Given the description of an element on the screen output the (x, y) to click on. 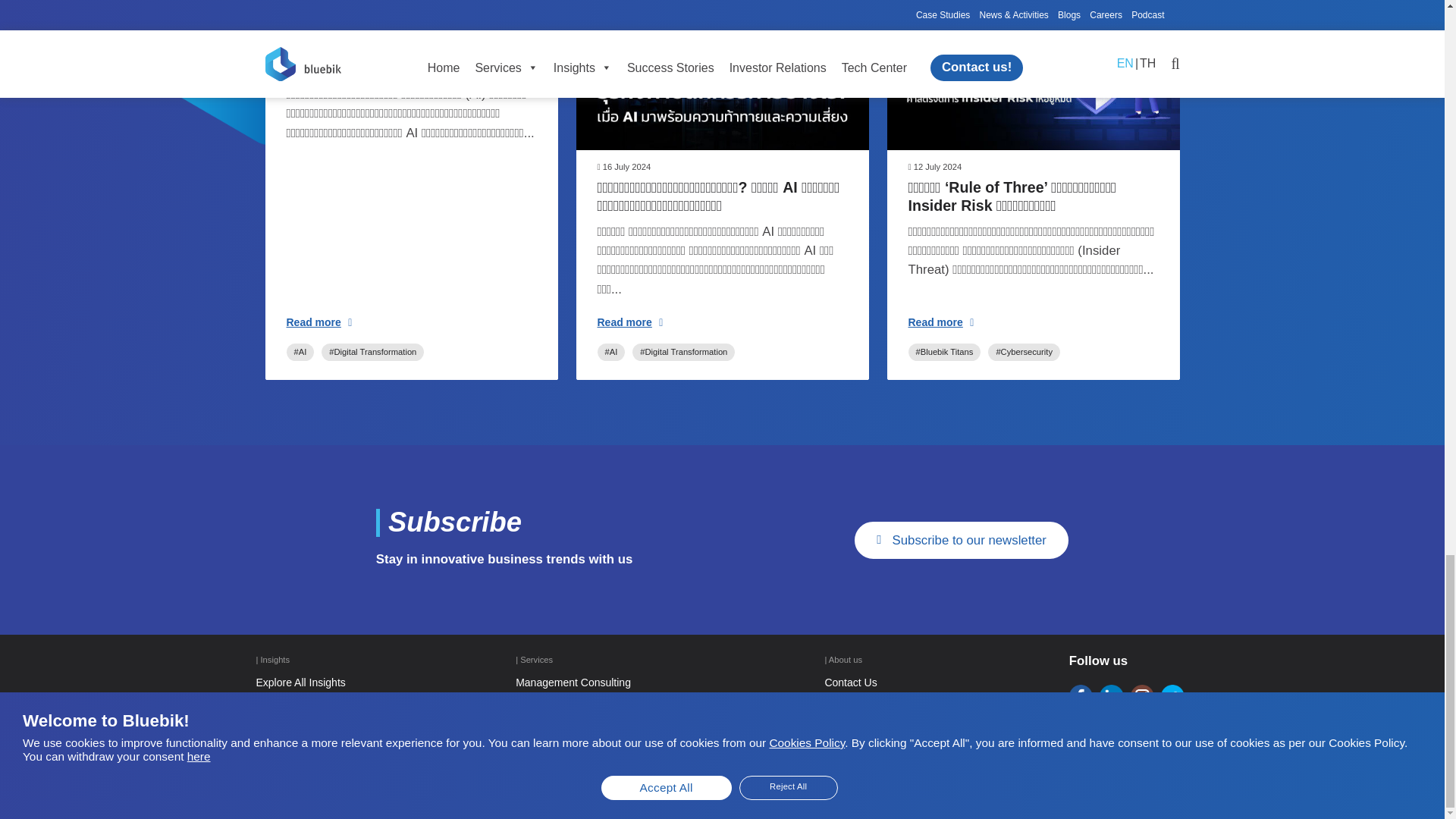
Read more (629, 322)
Read more (319, 322)
